Given the description of an element on the screen output the (x, y) to click on. 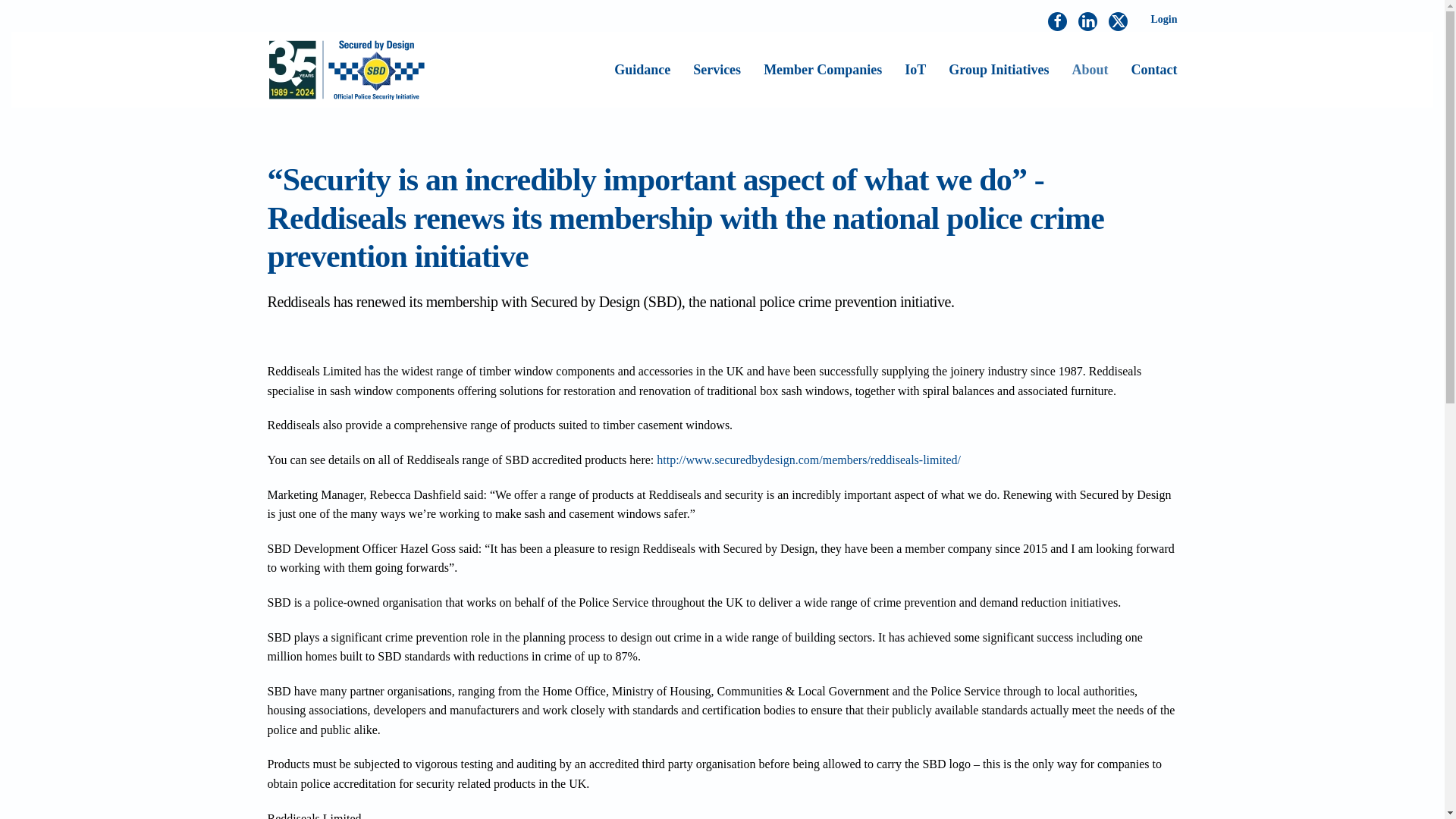
Guidance (641, 69)
Login (1163, 19)
